Given the description of an element on the screen output the (x, y) to click on. 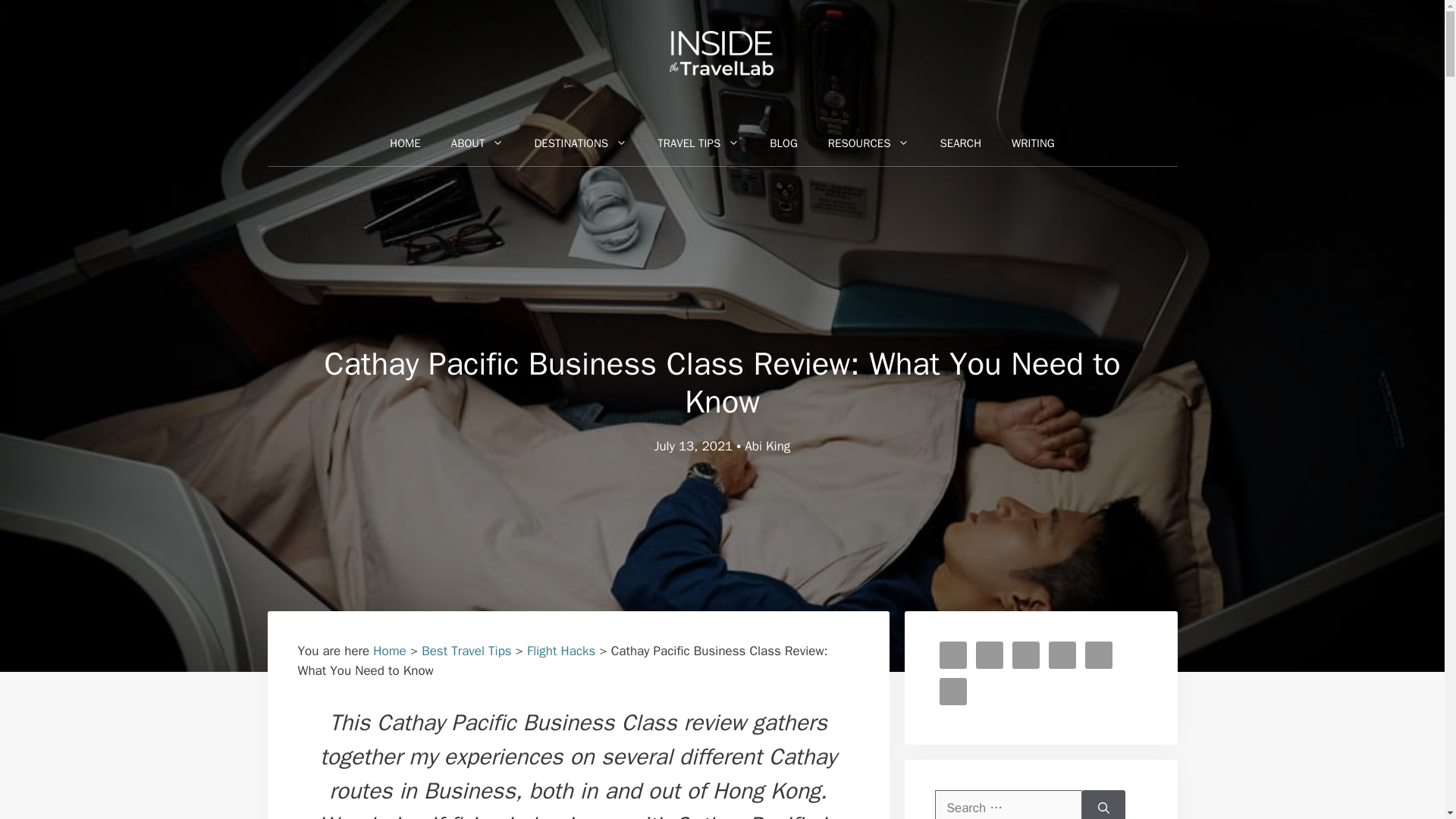
HOME (404, 143)
Search for: (1007, 804)
TRAVEL TIPS (698, 143)
ABOUT (477, 143)
DESTINATIONS (580, 143)
